Given the description of an element on the screen output the (x, y) to click on. 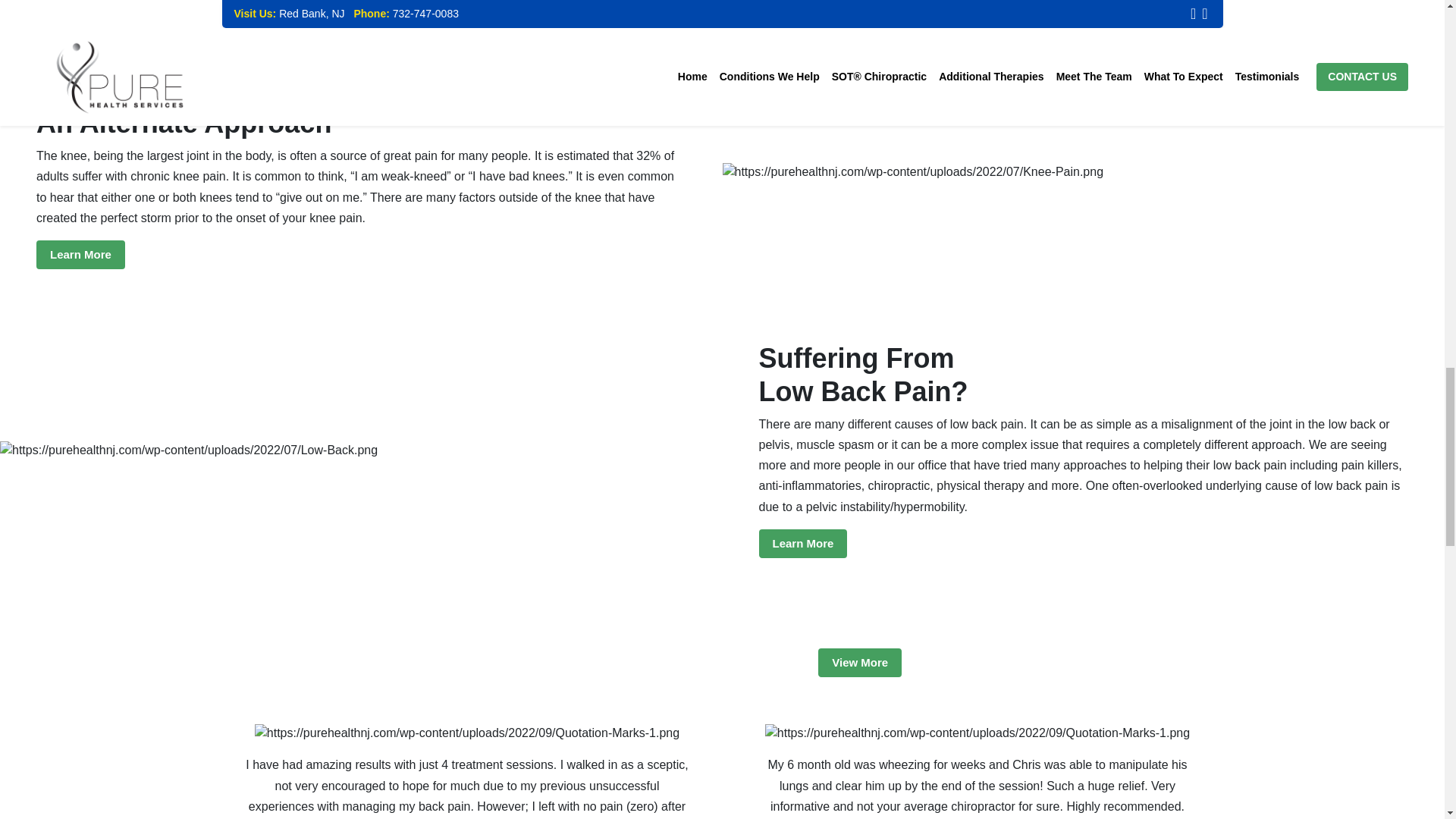
View More (859, 663)
Learn More (802, 0)
Learn More (80, 255)
Learn More (802, 543)
